Given the description of an element on the screen output the (x, y) to click on. 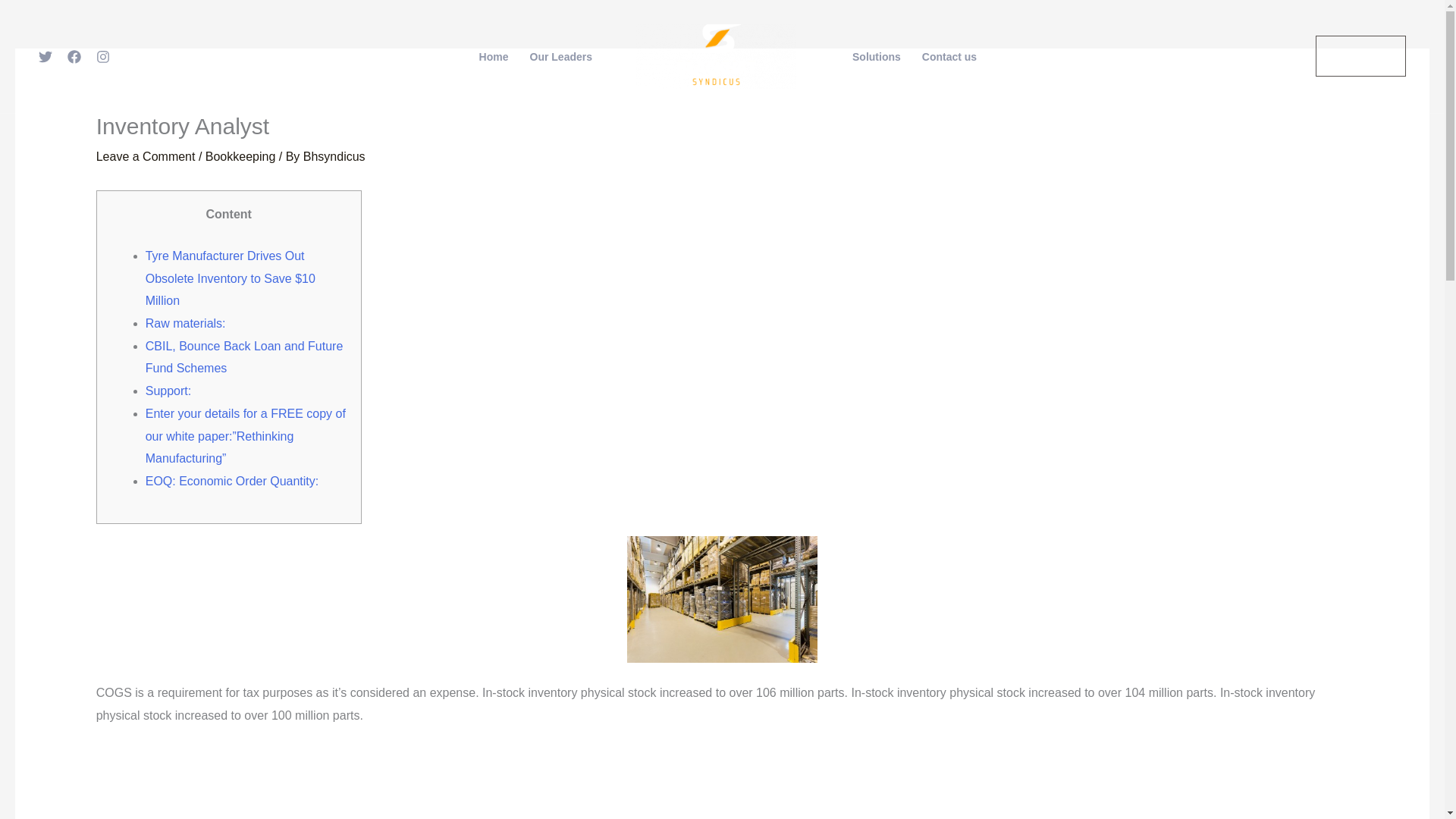
Bhsyndicus (333, 155)
Home (493, 56)
EOQ: Economic Order Quantity: (231, 481)
Our Leaders (560, 56)
Raw materials: (185, 323)
Contact us (949, 56)
Solutions (876, 56)
CBIL, Bounce Back Loan and Future Fund Schemes (244, 357)
Contact Us (1361, 56)
View all posts by Bhsyndicus (333, 155)
